Given the description of an element on the screen output the (x, y) to click on. 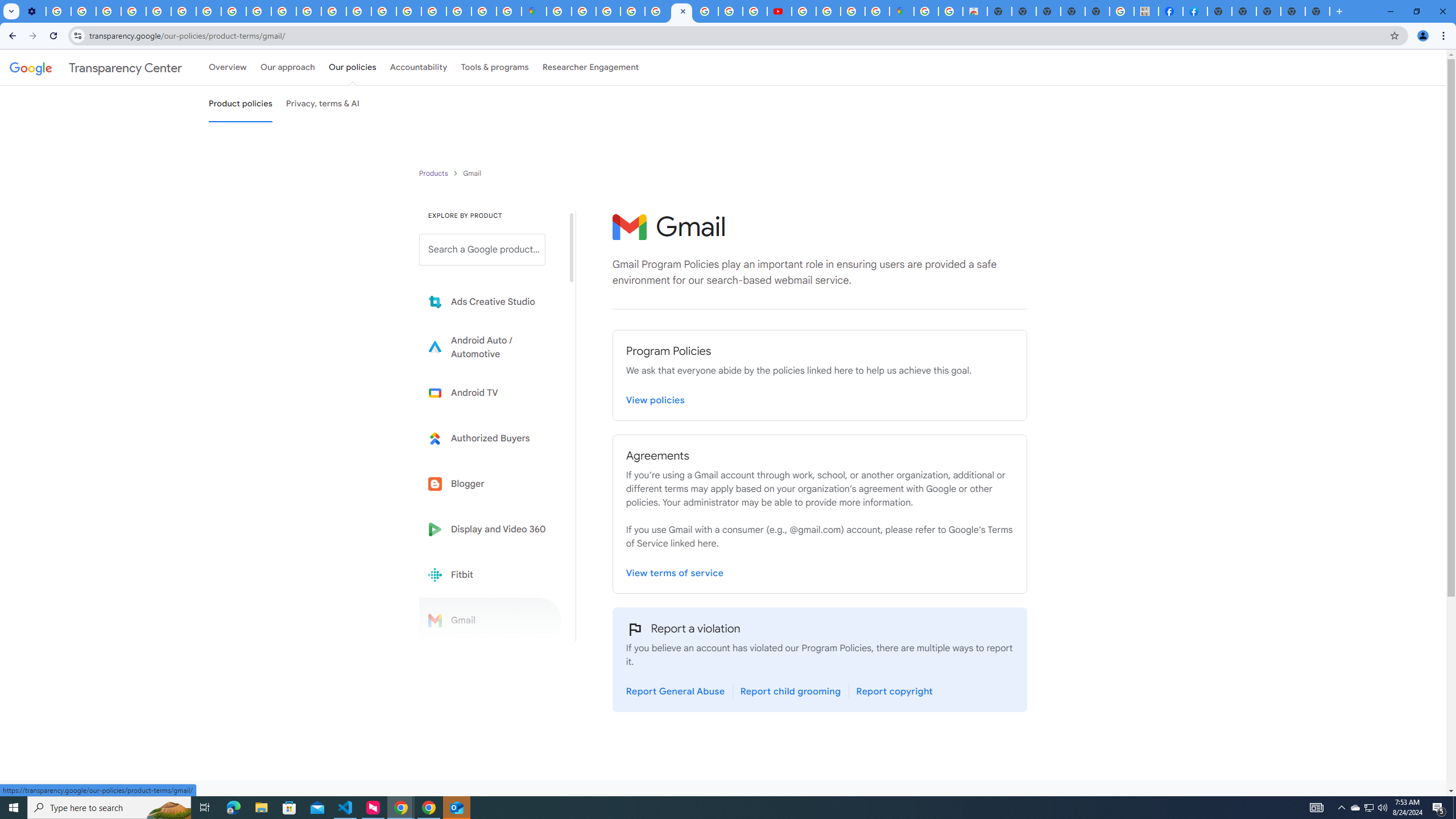
Sign in - Google Accounts (583, 11)
New Tab (1317, 11)
New Tab (1267, 11)
Transparency Center (95, 67)
Privacy Checkup (258, 11)
Accountability (418, 67)
Delete photos & videos - Computer - Google Photos Help (57, 11)
Privacy Help Center - Policies Help (730, 11)
Gmail Policies and Guidelines - Transparency Center (680, 11)
Learn more about Android TV (490, 393)
